Given the description of an element on the screen output the (x, y) to click on. 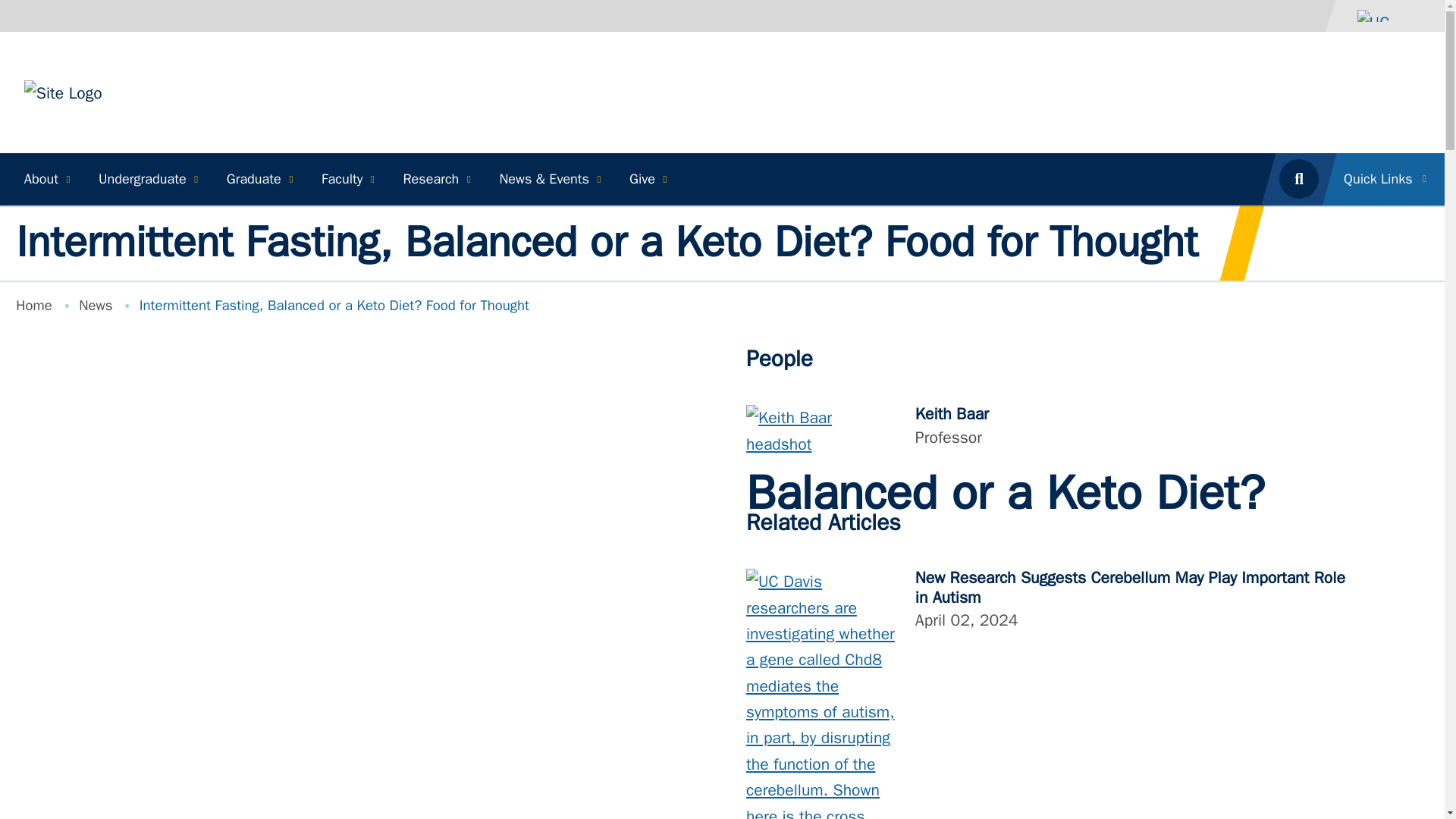
Open Search (1298, 179)
Home (62, 91)
About (45, 179)
Thursday, April 20, 2023 - 9:32am (932, 603)
Tuesday, April 2, 2024 - 10:02am (966, 619)
